Given the description of an element on the screen output the (x, y) to click on. 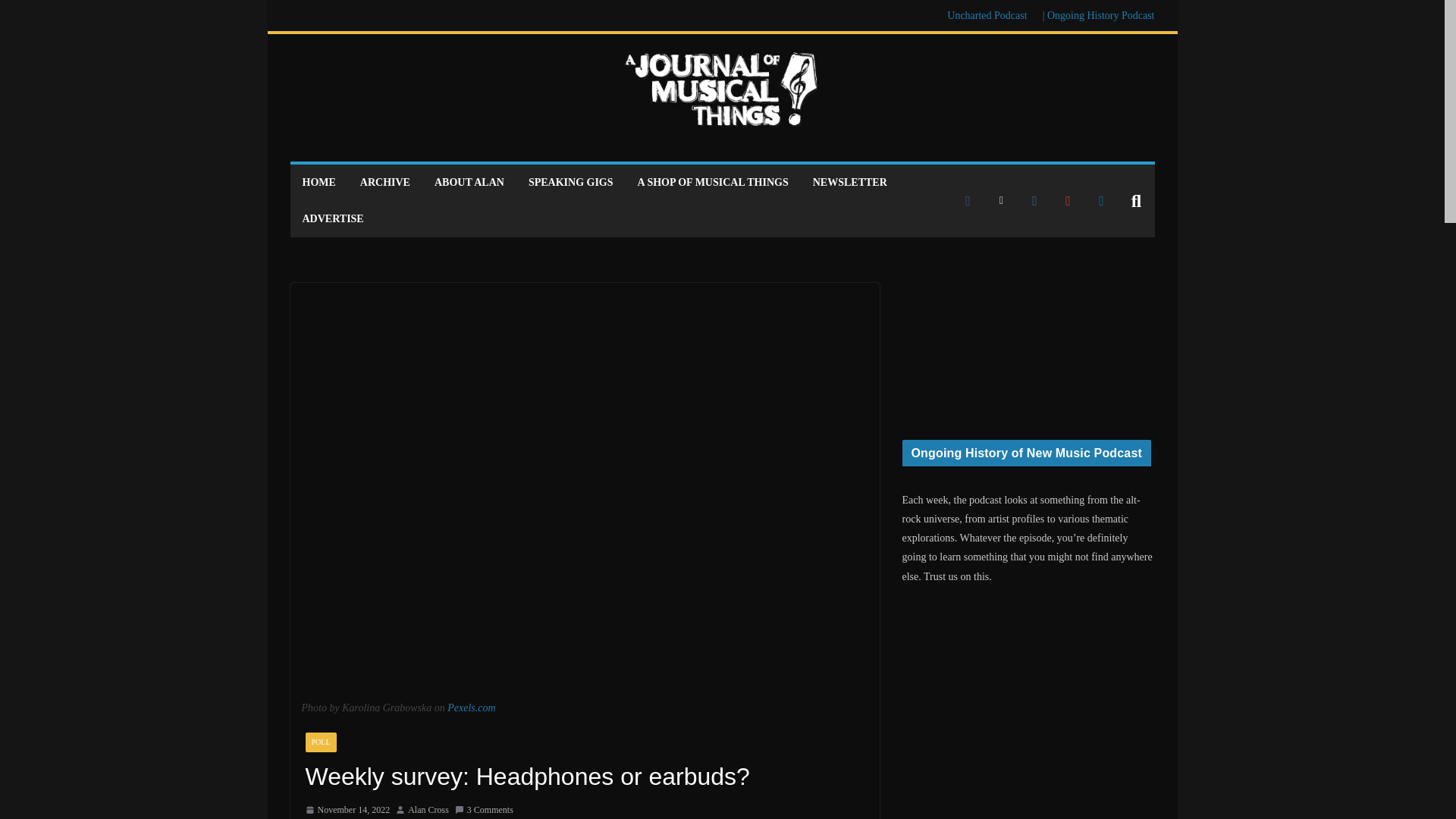
NEWSLETTER (849, 182)
Pexels.com (470, 707)
ABOUT ALAN (468, 182)
ADVERTISE (331, 219)
Alan Cross (427, 810)
November 14, 2022 (347, 810)
ARCHIVE (384, 182)
Alan Cross (427, 810)
7:15 am (347, 810)
HOME (317, 182)
